Given the description of an element on the screen output the (x, y) to click on. 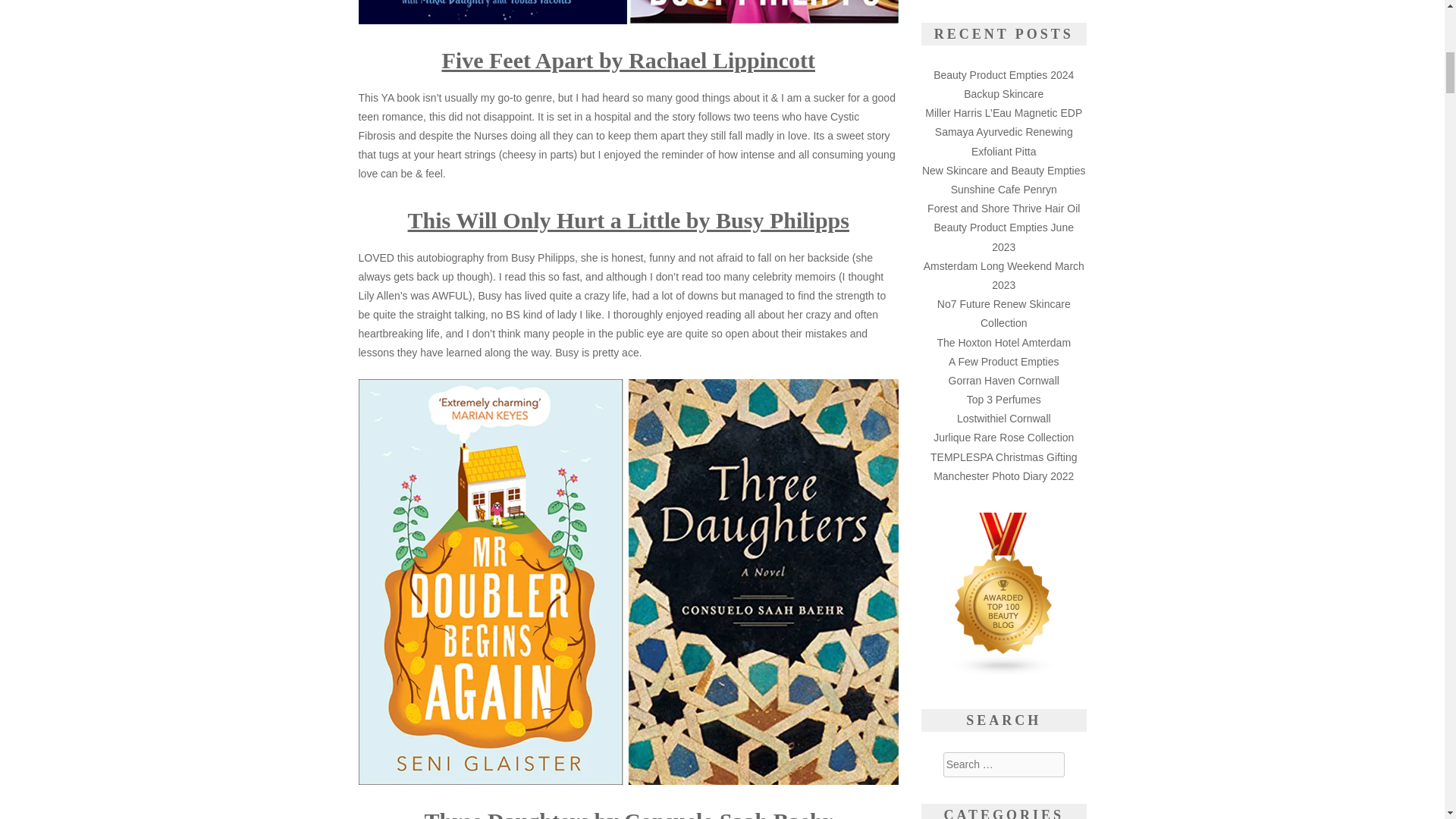
This Will Only Hurt a Little by Busy Philipps (627, 220)
Three Daughters by Consuelo Saah Baehr (627, 813)
Five Feet Apart by Rachael Lippincott (628, 59)
